Given the description of an element on the screen output the (x, y) to click on. 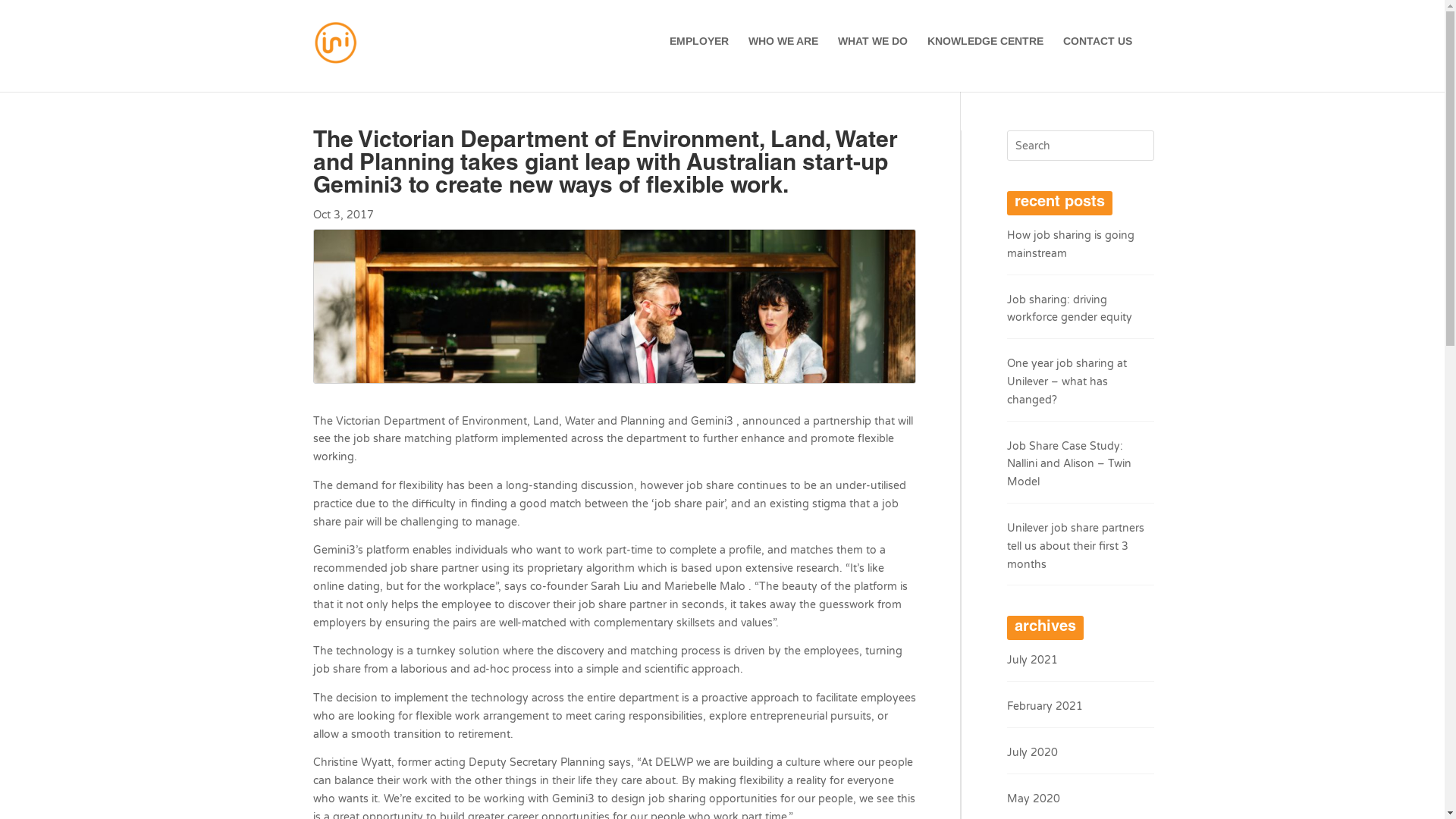
July 2020 Element type: text (1032, 752)
February 2021 Element type: text (1044, 705)
WHO WE ARE Element type: text (782, 53)
KNOWLEDGE CENTRE Element type: text (984, 53)
WHAT WE DO Element type: text (871, 53)
Job sharing: driving workforce gender equity Element type: text (1069, 308)
May 2020 Element type: text (1033, 798)
EMPLOYER Element type: text (698, 53)
CONTACT US Element type: text (1097, 53)
How job sharing is going mainstream Element type: text (1070, 244)
July 2021 Element type: text (1032, 659)
